Given the description of an element on the screen output the (x, y) to click on. 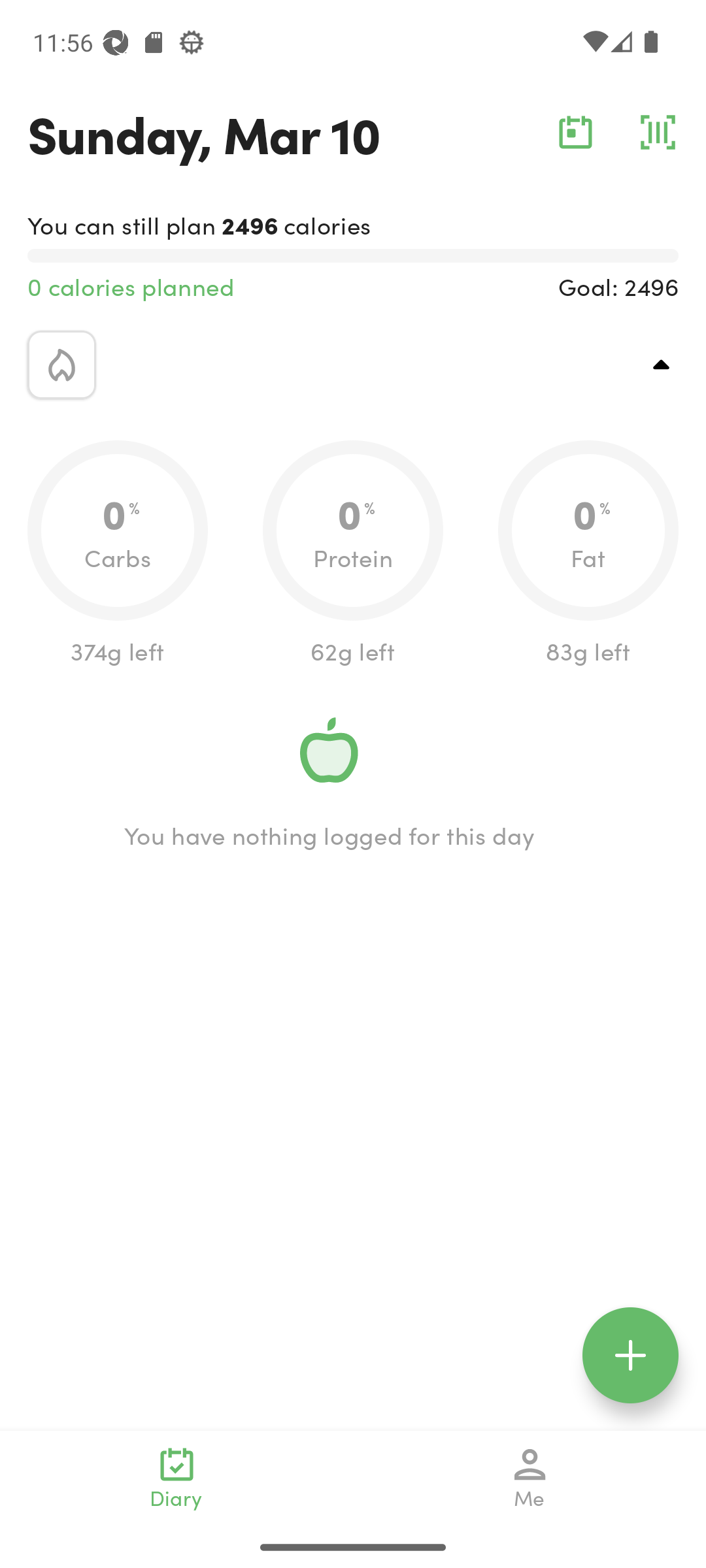
calendar_action (575, 132)
barcode_action (658, 132)
calorie_icon (62, 365)
top_right_action (661, 365)
0.0 0 % Carbs 374g left (117, 553)
0.0 0 % Protein 62g left (352, 553)
0.0 0 % Fat 83g left (588, 553)
floating_action_icon (630, 1355)
Me navigation_icon (529, 1478)
